Given the description of an element on the screen output the (x, y) to click on. 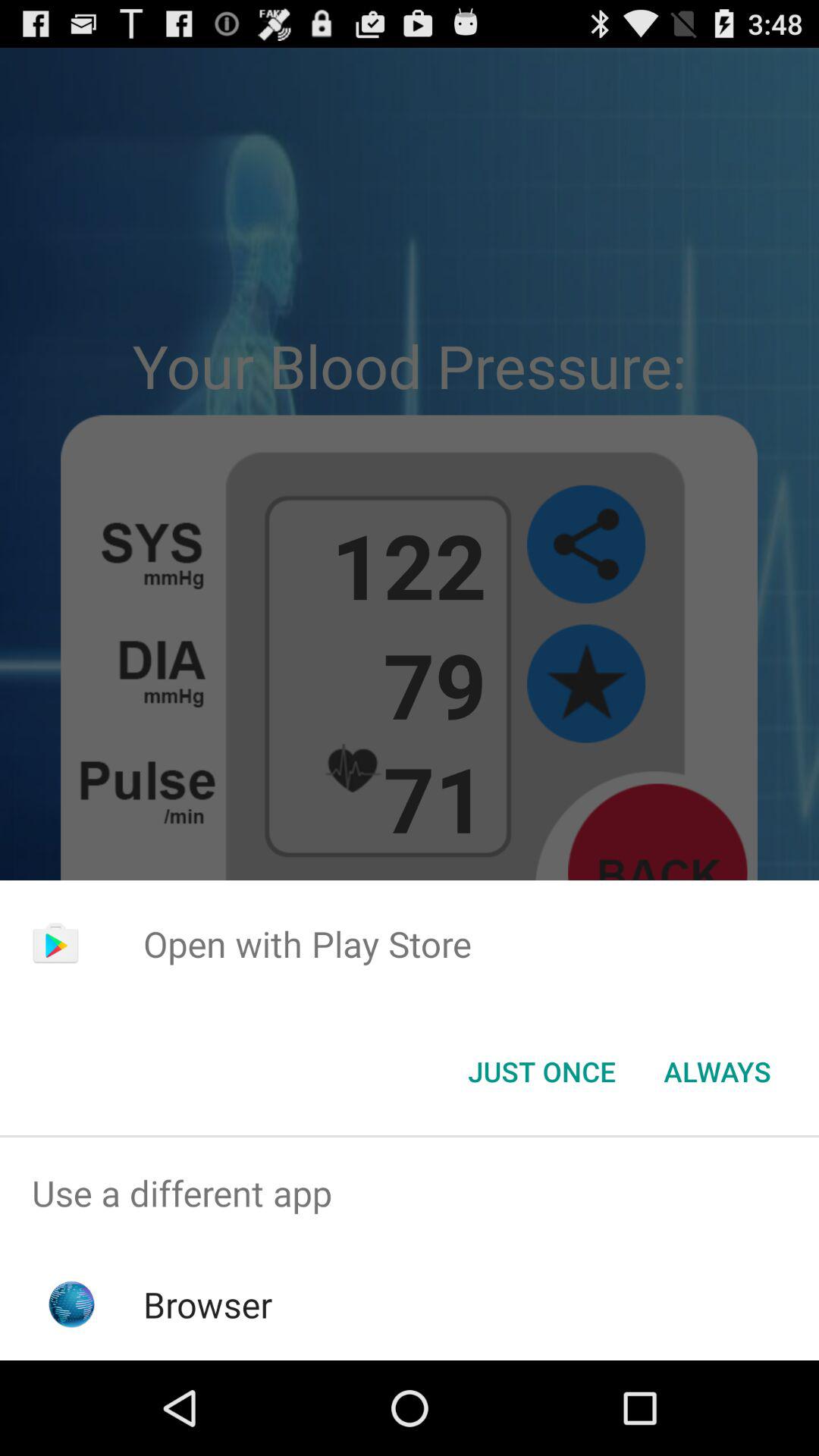
turn on icon to the right of the just once item (717, 1071)
